Given the description of an element on the screen output the (x, y) to click on. 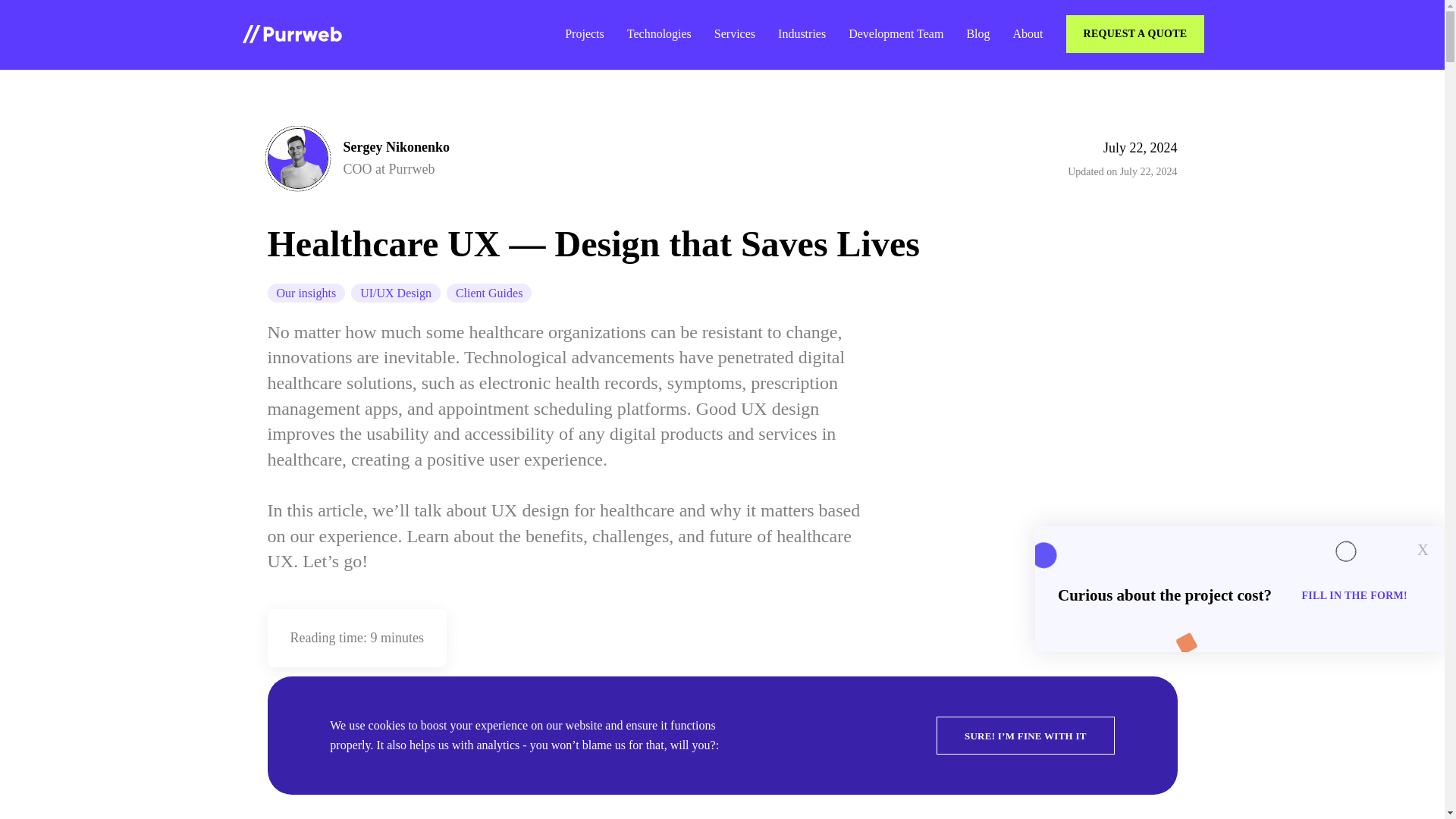
Development Team (895, 33)
Technologies (659, 33)
REQUEST A QUOTE (1136, 31)
Purrweb logo (291, 34)
Industries (801, 33)
FILL IN THE FORM! (1356, 592)
Services (734, 33)
Projects (584, 33)
